Given the description of an element on the screen output the (x, y) to click on. 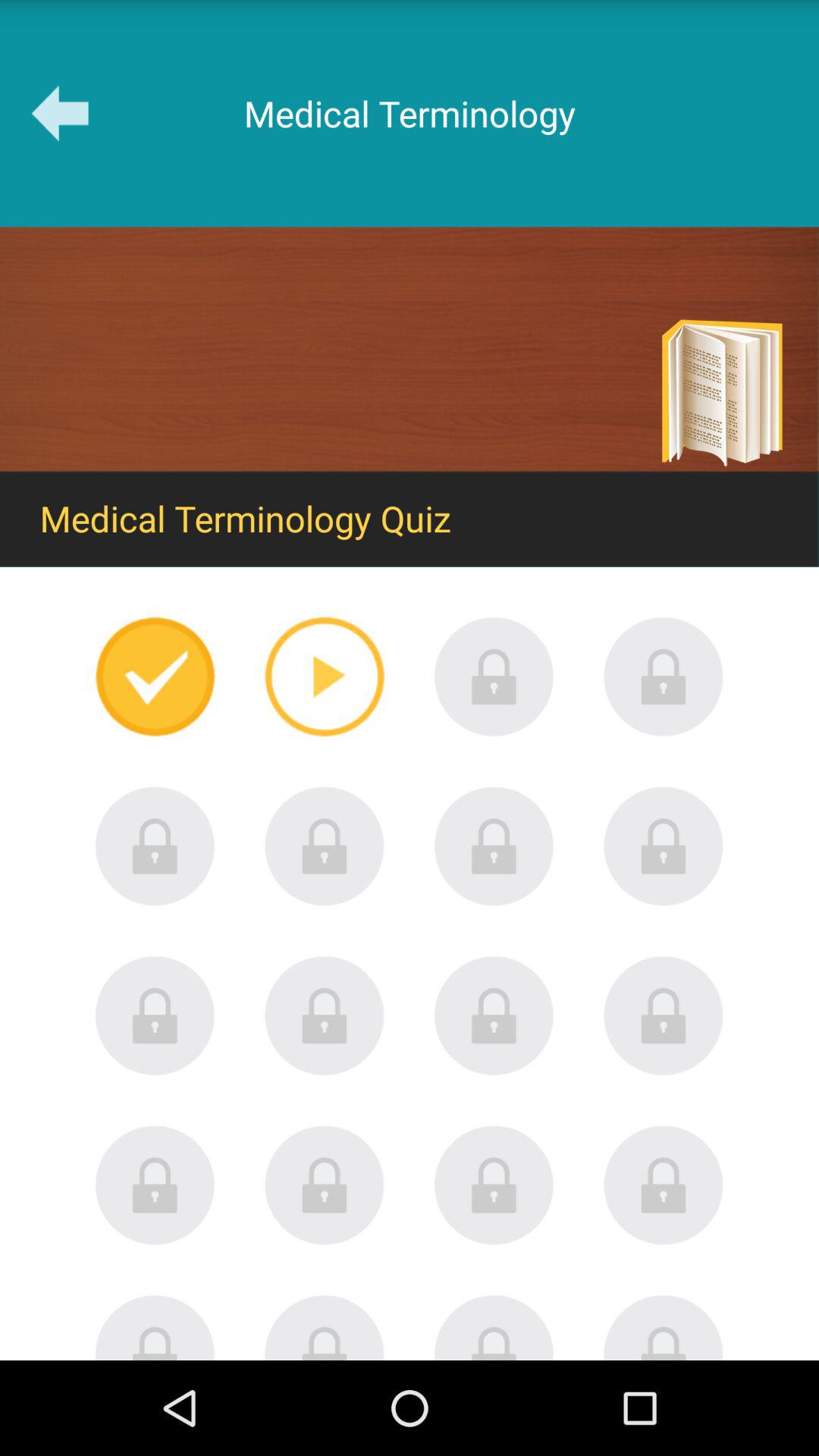
open the item (493, 1184)
